Given the description of an element on the screen output the (x, y) to click on. 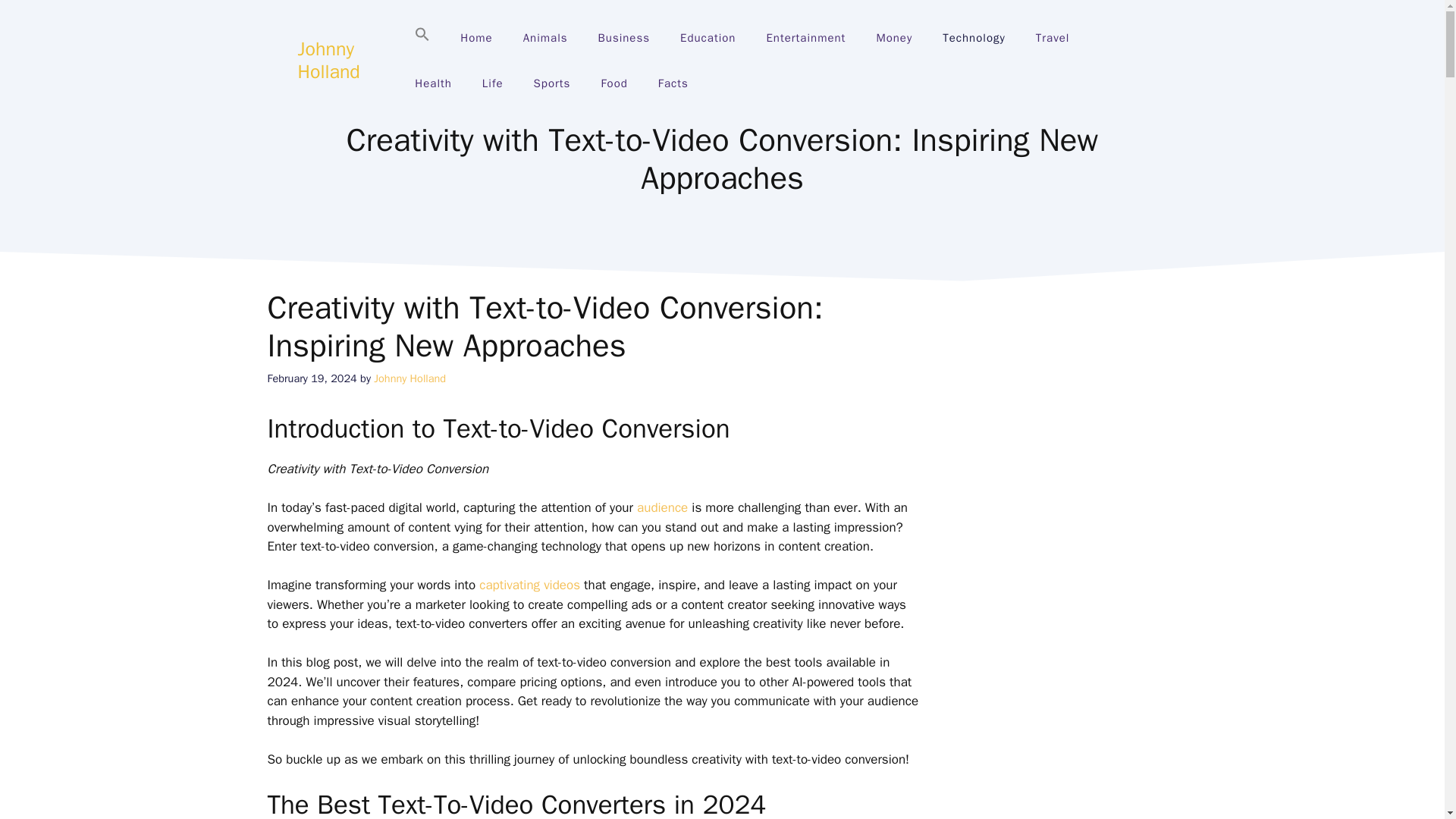
Johnny Holland (328, 59)
Johnny Holland (409, 377)
Sports (552, 83)
Business (624, 37)
Technology (973, 37)
Entertainment (805, 37)
Money (893, 37)
View all posts by Johnny Holland (409, 377)
Life (492, 83)
Facts (673, 83)
